Given the description of an element on the screen output the (x, y) to click on. 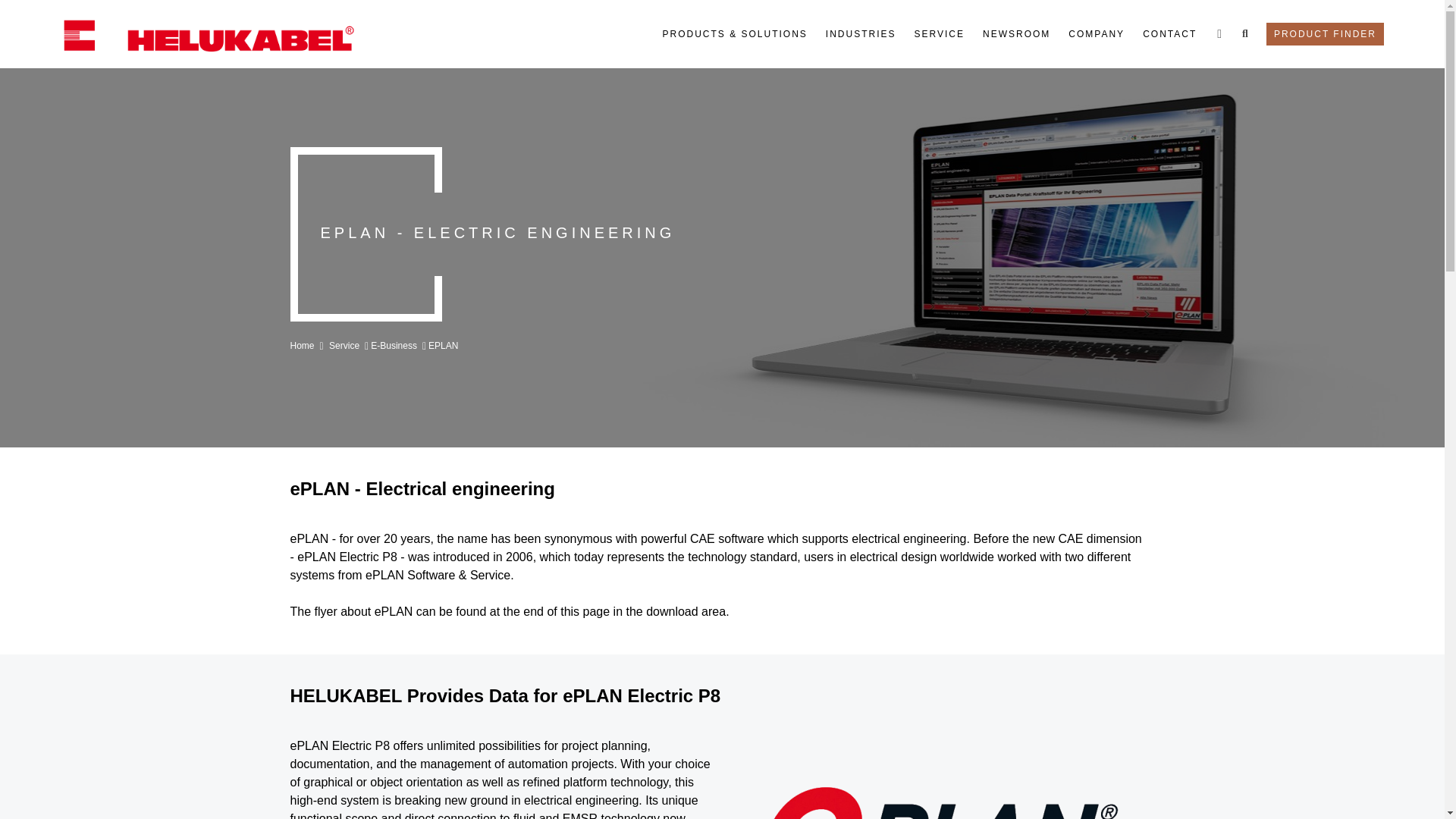
Eplan Logo (937, 778)
